Given the description of an element on the screen output the (x, y) to click on. 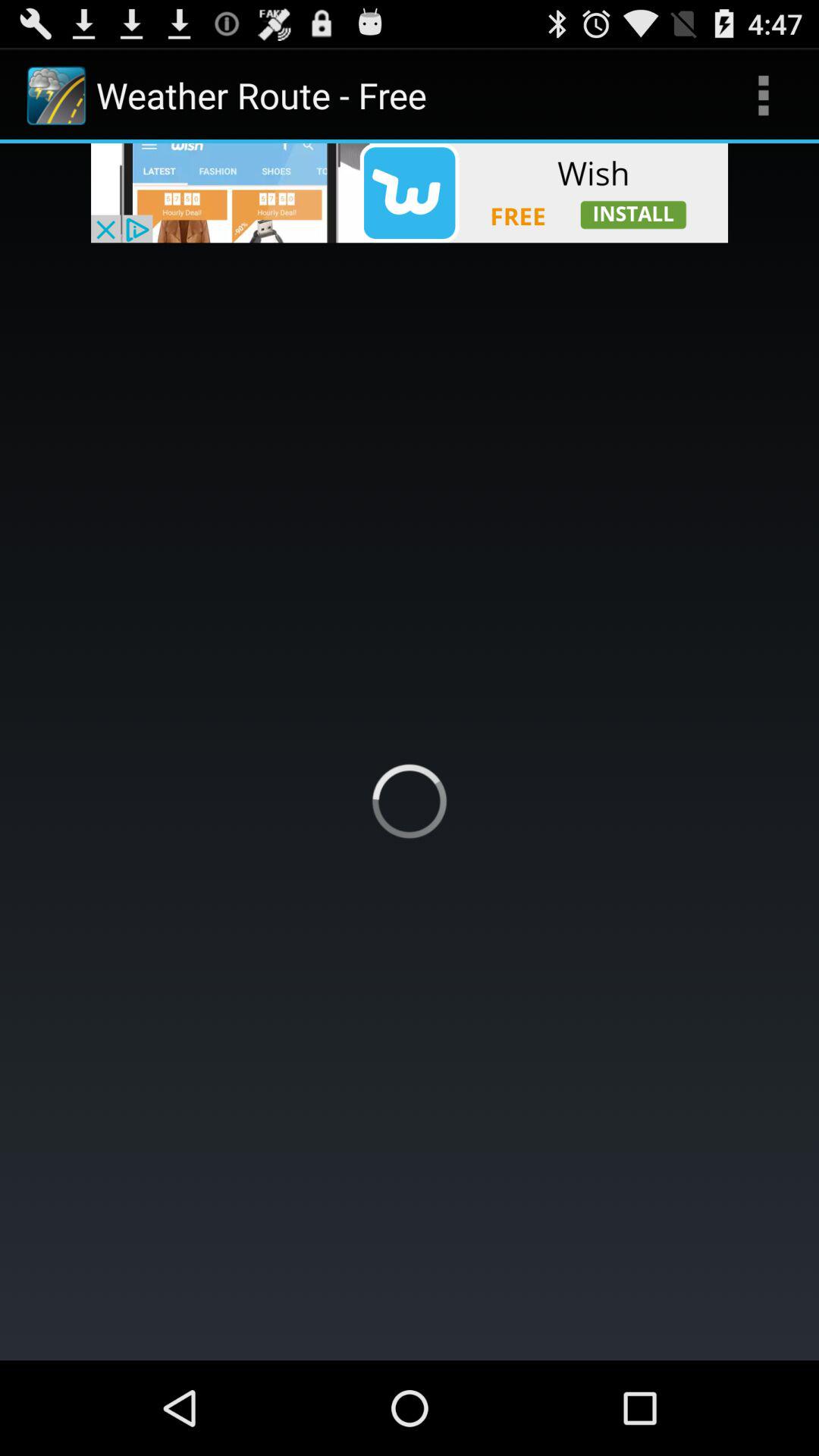
advertisement banner (409, 192)
